Given the description of an element on the screen output the (x, y) to click on. 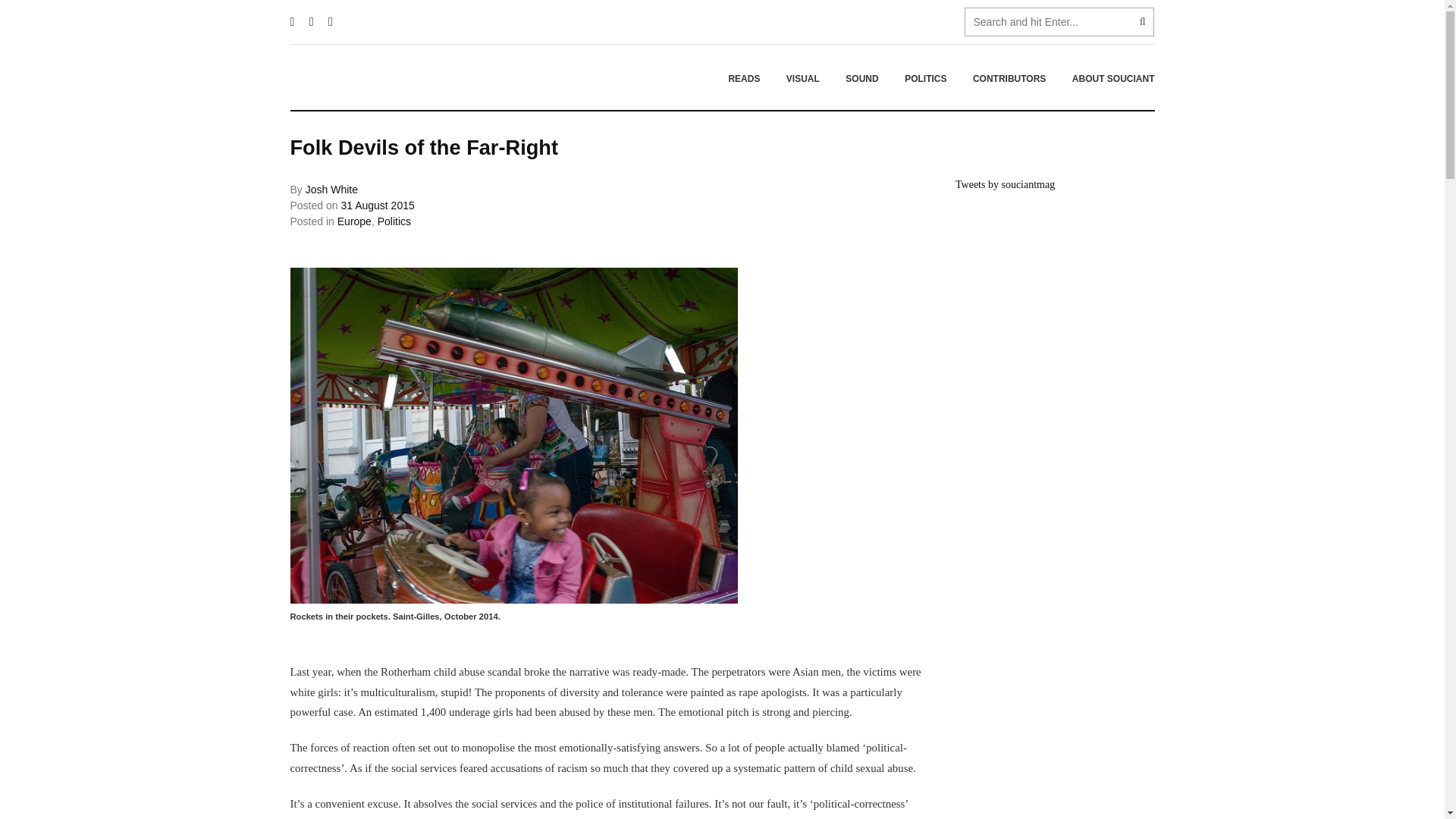
ABOUT SOUCIANT (1107, 78)
Souciant (384, 77)
SOUND (861, 78)
POLITICS (925, 78)
READS (743, 78)
Europe (354, 221)
CONTRIBUTORS (1008, 78)
VISUAL (802, 78)
Tweets by souciantmag (1004, 184)
Politics (393, 221)
31 August 2015 (376, 205)
Josh White (331, 189)
